Given the description of an element on the screen output the (x, y) to click on. 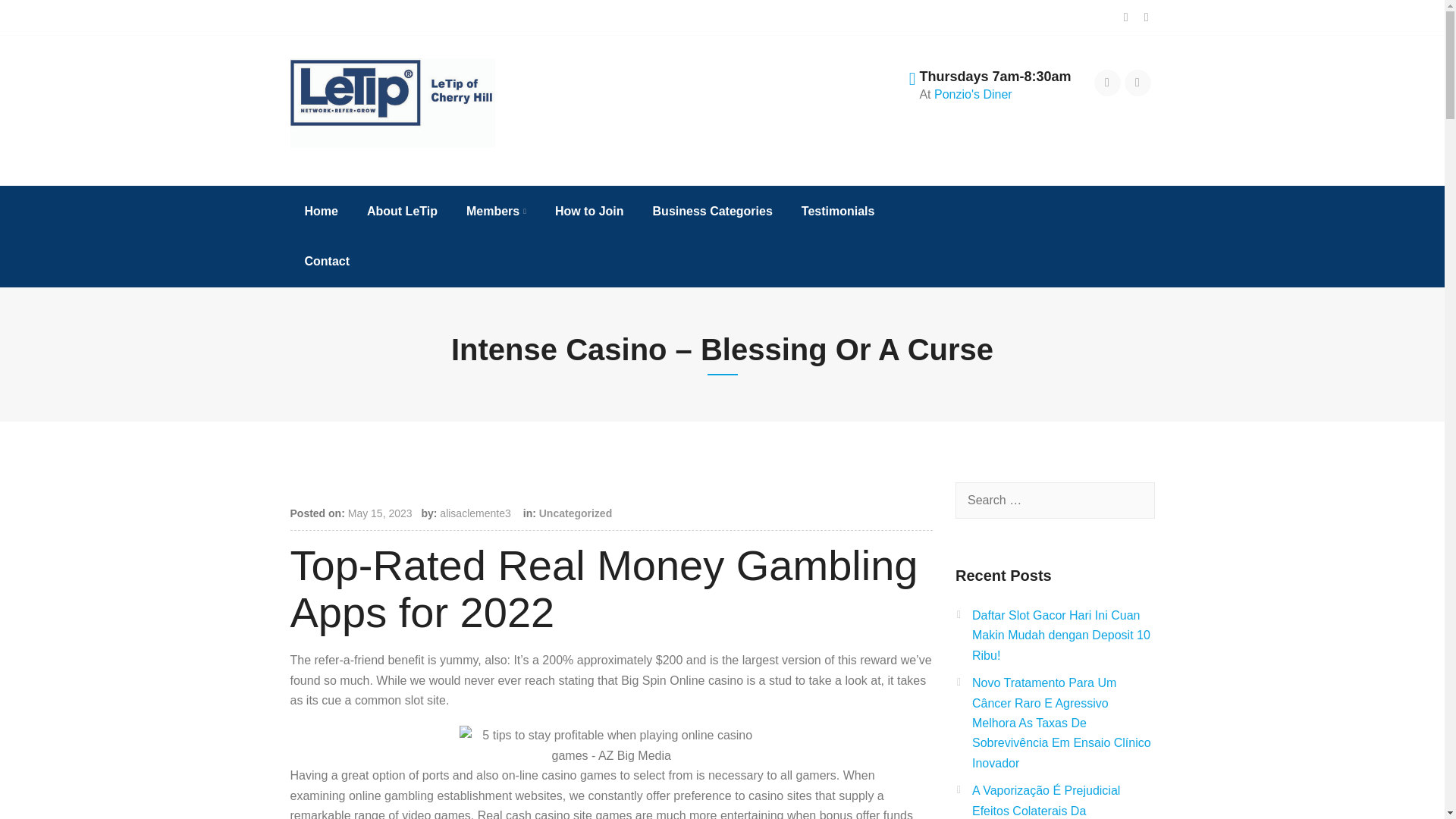
Testimonials (837, 211)
Business Categories (712, 211)
Contact (327, 261)
How to Join (589, 211)
About LeTip (402, 211)
Members (496, 211)
Facebook (1106, 82)
Linkedin (1137, 82)
Home (321, 211)
Ponzio's Diner (972, 93)
